Given the description of an element on the screen output the (x, y) to click on. 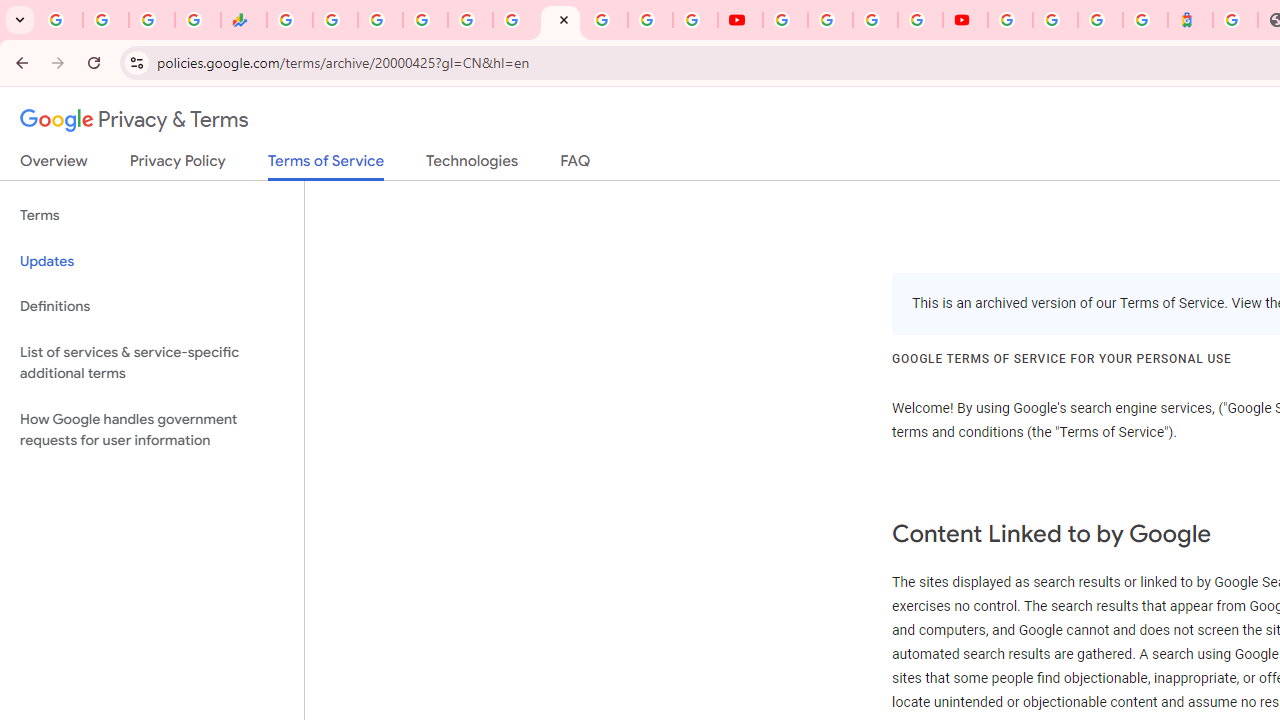
Sign in - Google Accounts (1055, 20)
YouTube (740, 20)
Google Account Help (829, 20)
